Given the description of an element on the screen output the (x, y) to click on. 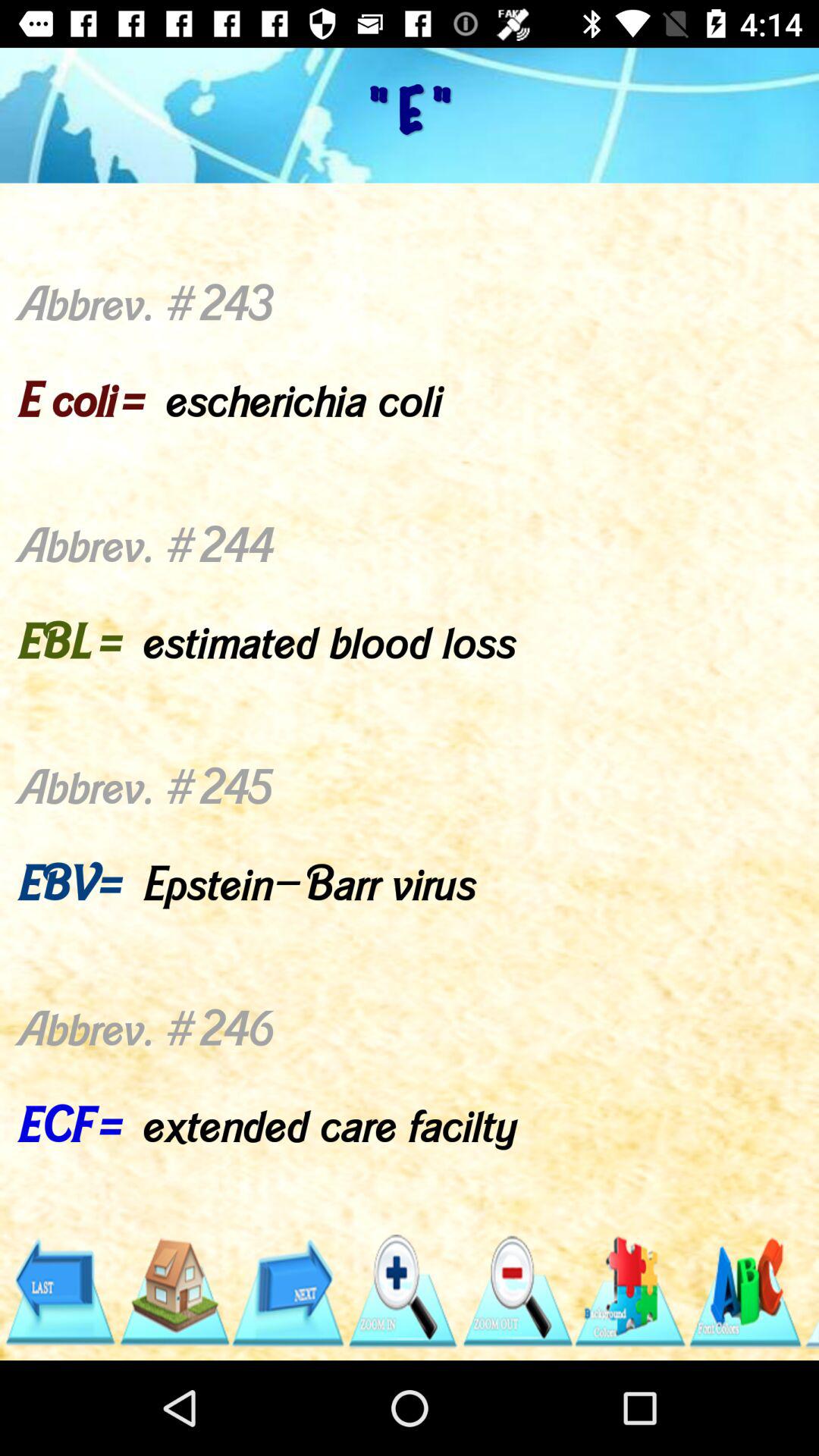
turn off the item below abbrev 	243	 	e app (516, 1291)
